Given the description of an element on the screen output the (x, y) to click on. 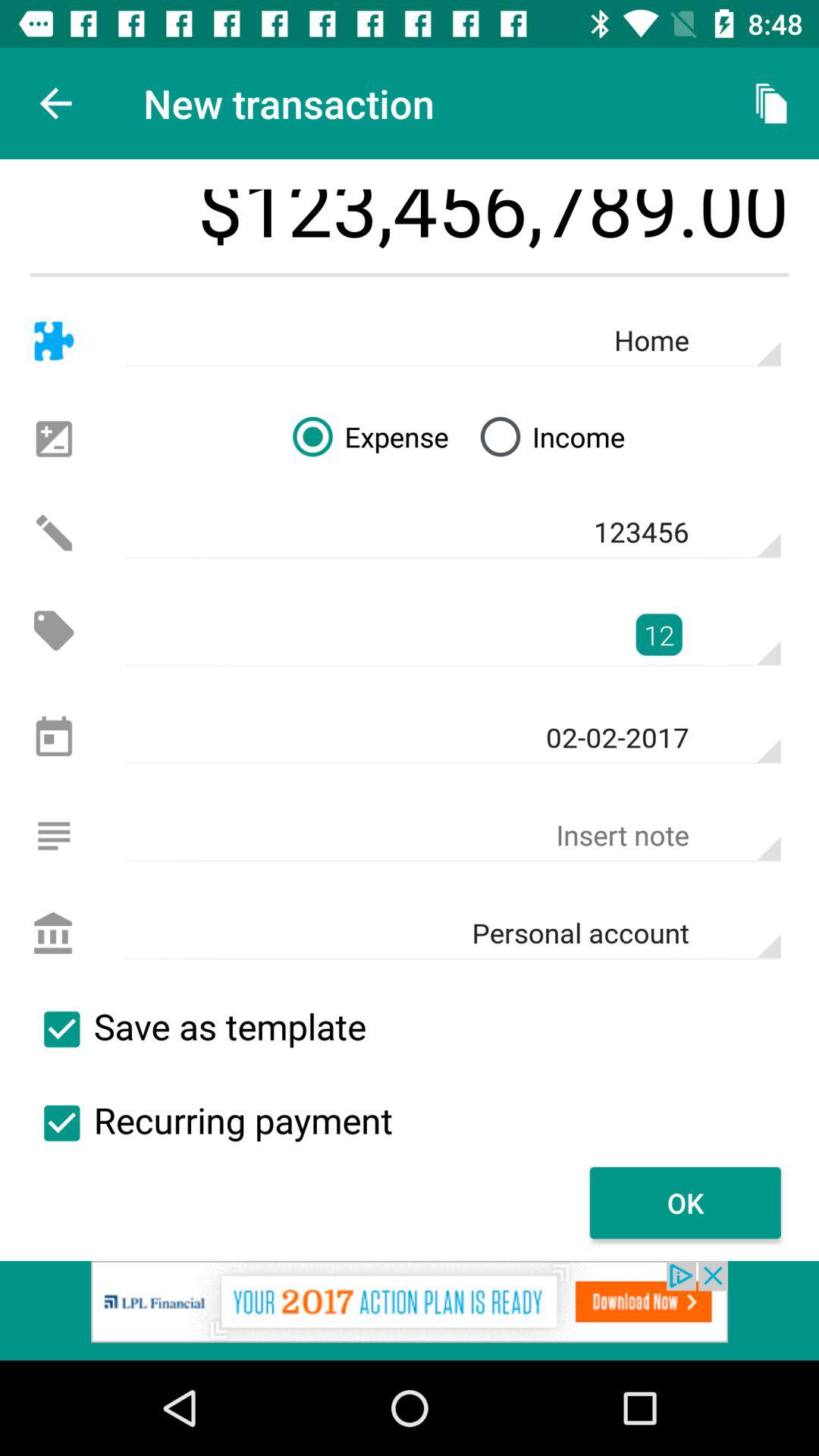
selects radio button (61, 1123)
